Given the description of an element on the screen output the (x, y) to click on. 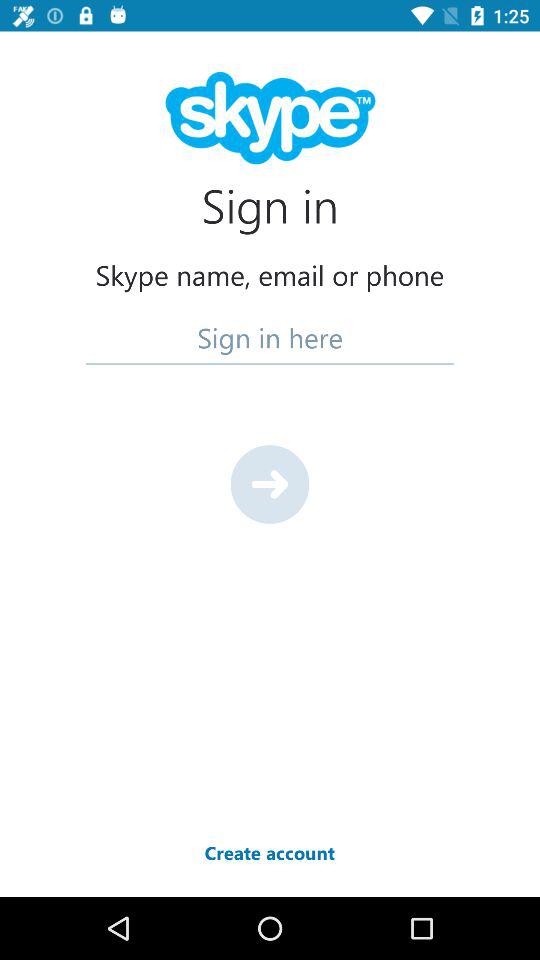
open the item above create account icon (269, 484)
